Given the description of an element on the screen output the (x, y) to click on. 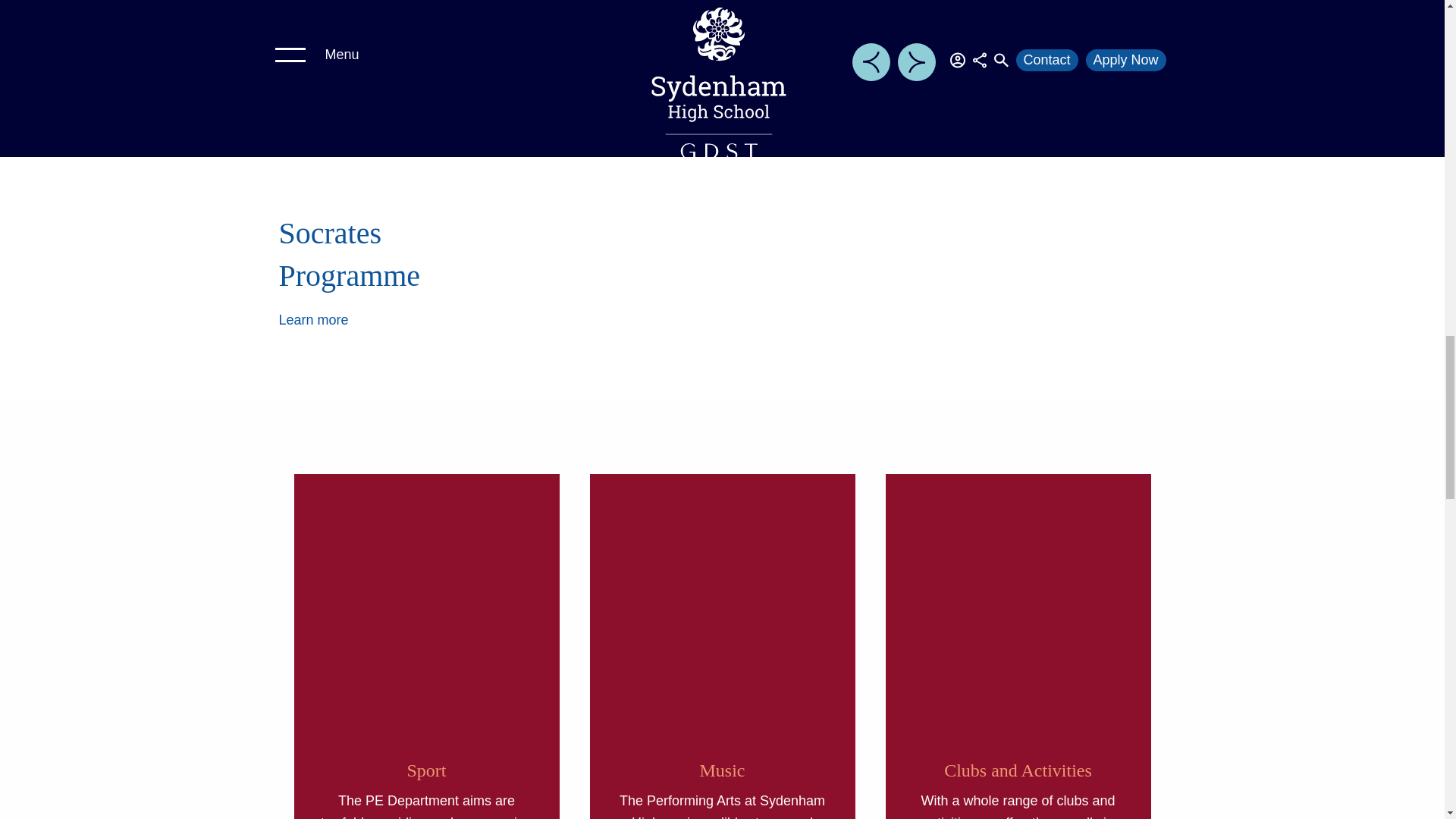
Learn more - Socrates Programme (314, 319)
